Given the description of an element on the screen output the (x, y) to click on. 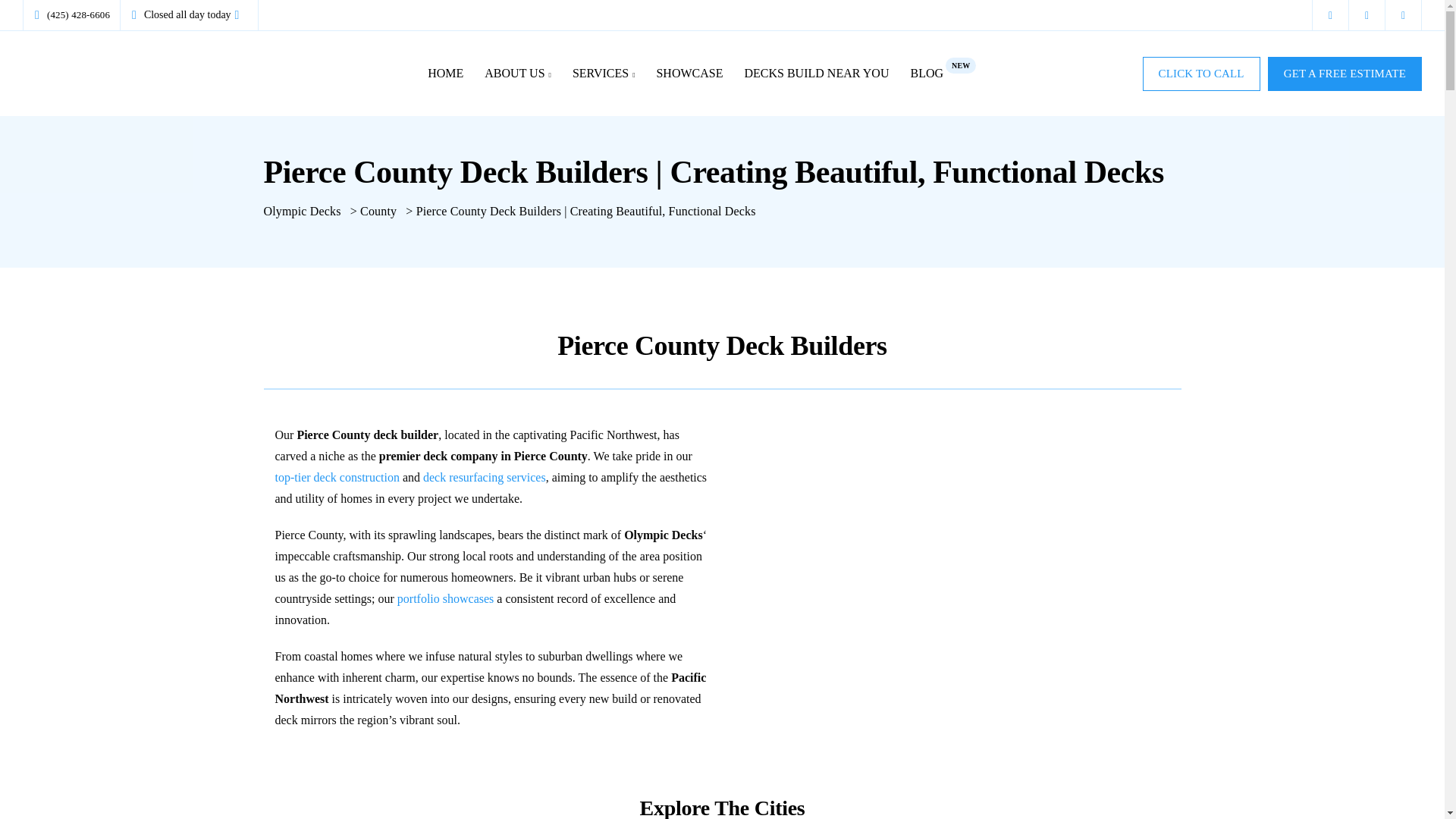
portfolio showcases (446, 598)
SHOWCASE (689, 73)
County (377, 210)
DECKS BUILD NEAR YOU (943, 73)
SERVICES (816, 73)
Olympic Decks (604, 73)
Pierce Deck Builder (301, 210)
HOME (951, 449)
top-tier deck construction (445, 73)
deck resurfacing services (336, 477)
CLICK TO CALL (484, 477)
ABOUT US (1201, 73)
Go to Olympic Decks. (518, 73)
GET A FREE ESTIMATE (301, 210)
